Given the description of an element on the screen output the (x, y) to click on. 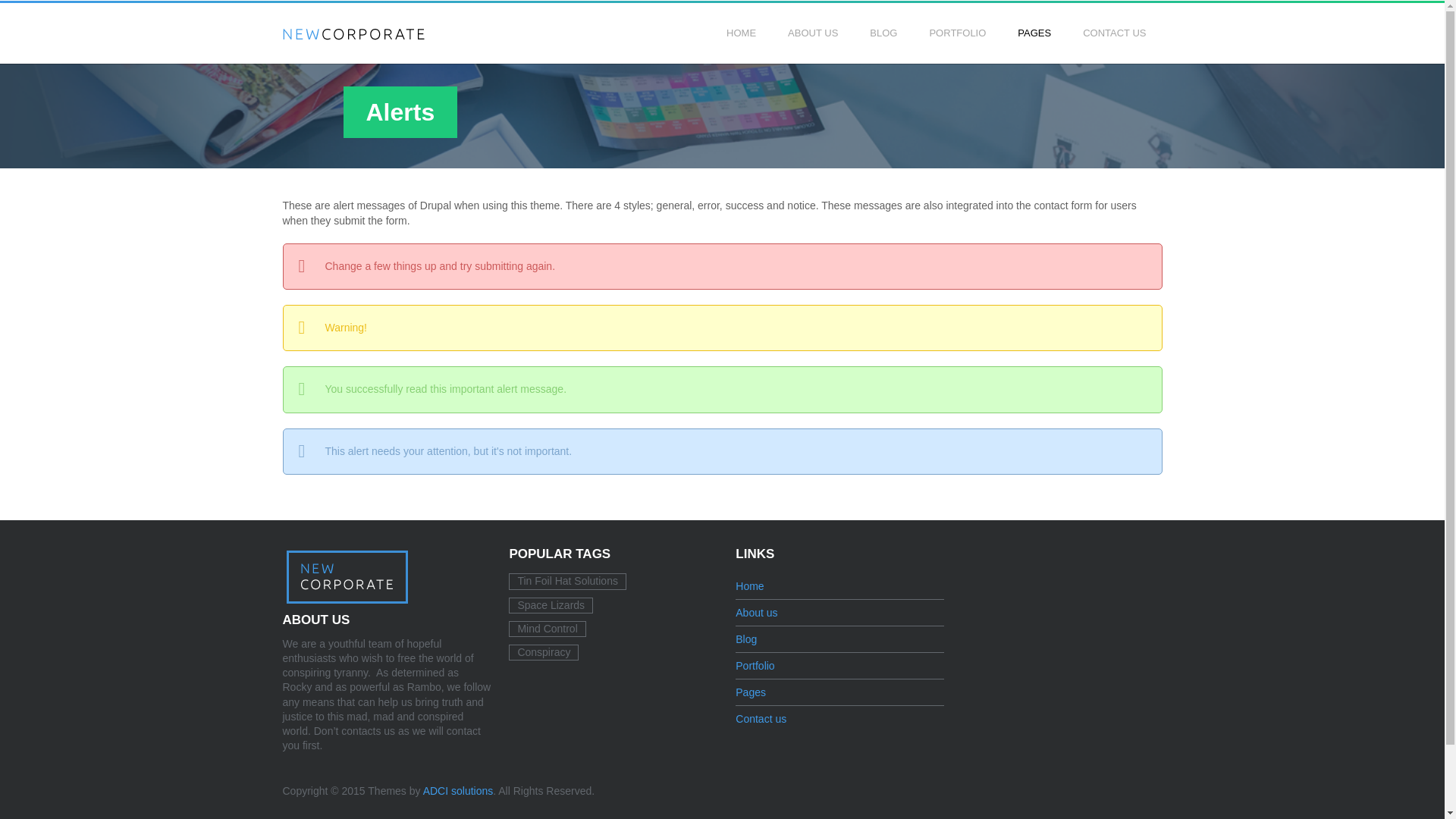
About us (756, 612)
Alerts (1075, 83)
Home (748, 585)
Tin Foil Hat Solutions (567, 580)
CONTACT US (1113, 33)
Conspiracy (543, 652)
ABOUT US (813, 33)
Column 3 (986, 83)
Pages (750, 692)
drupal development (458, 790)
Space Lizards (550, 605)
Contact us (760, 718)
Mind Control (546, 628)
ADCI solutions (458, 790)
